Given the description of an element on the screen output the (x, y) to click on. 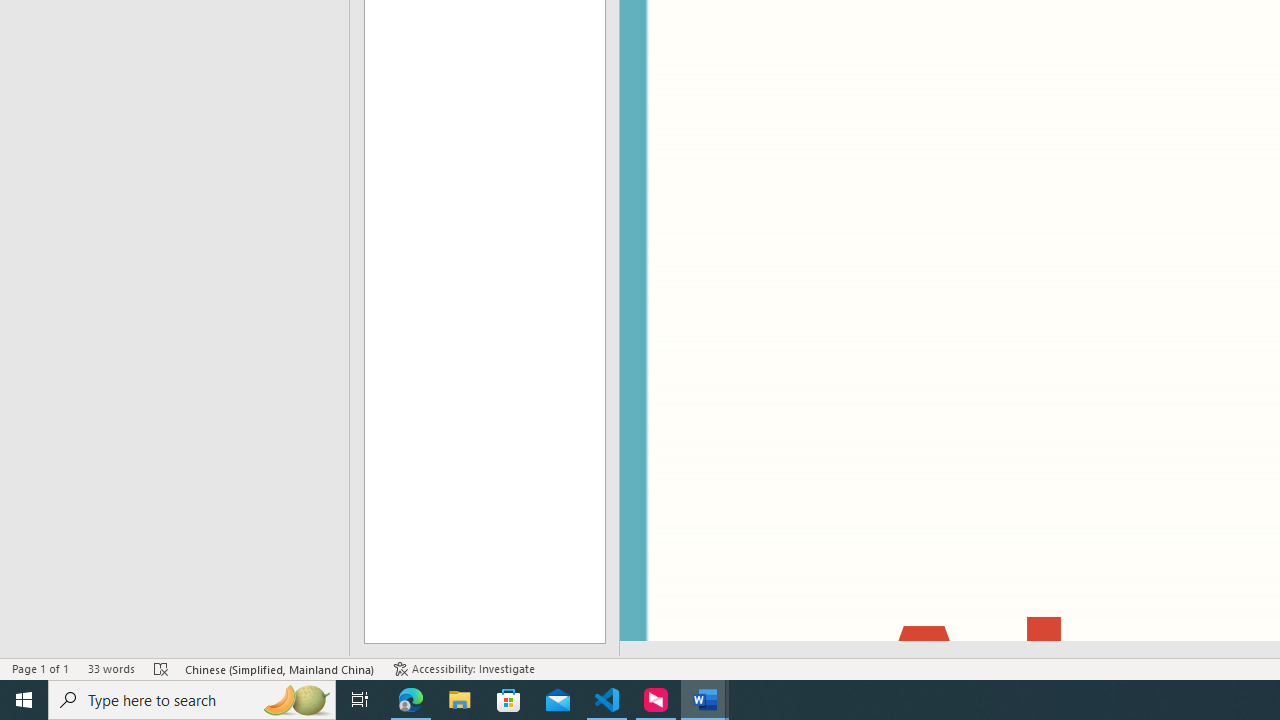
Page Number Page 1 of 1 (39, 668)
